Given the description of an element on the screen output the (x, y) to click on. 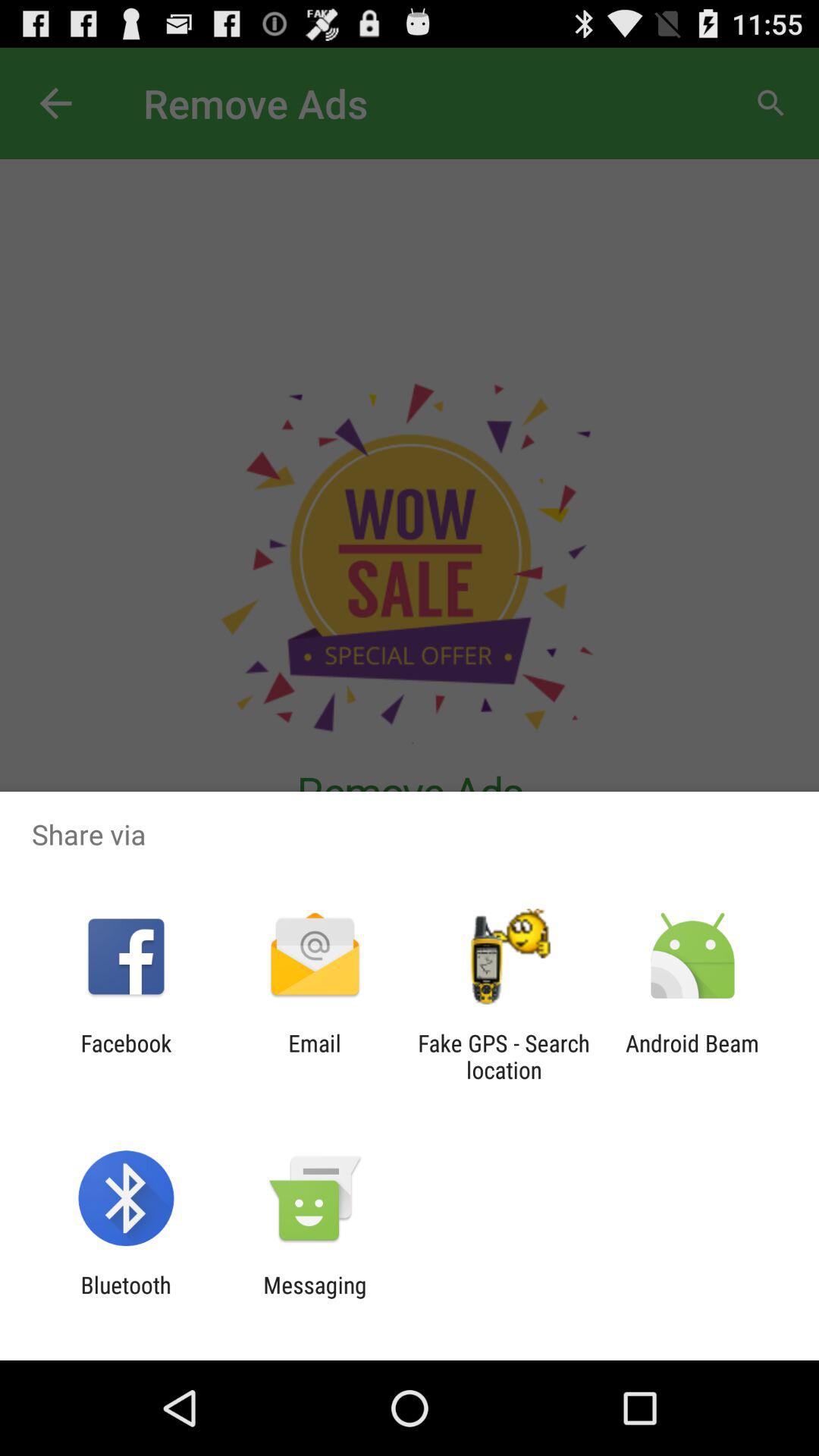
tap app next to facebook item (314, 1056)
